Given the description of an element on the screen output the (x, y) to click on. 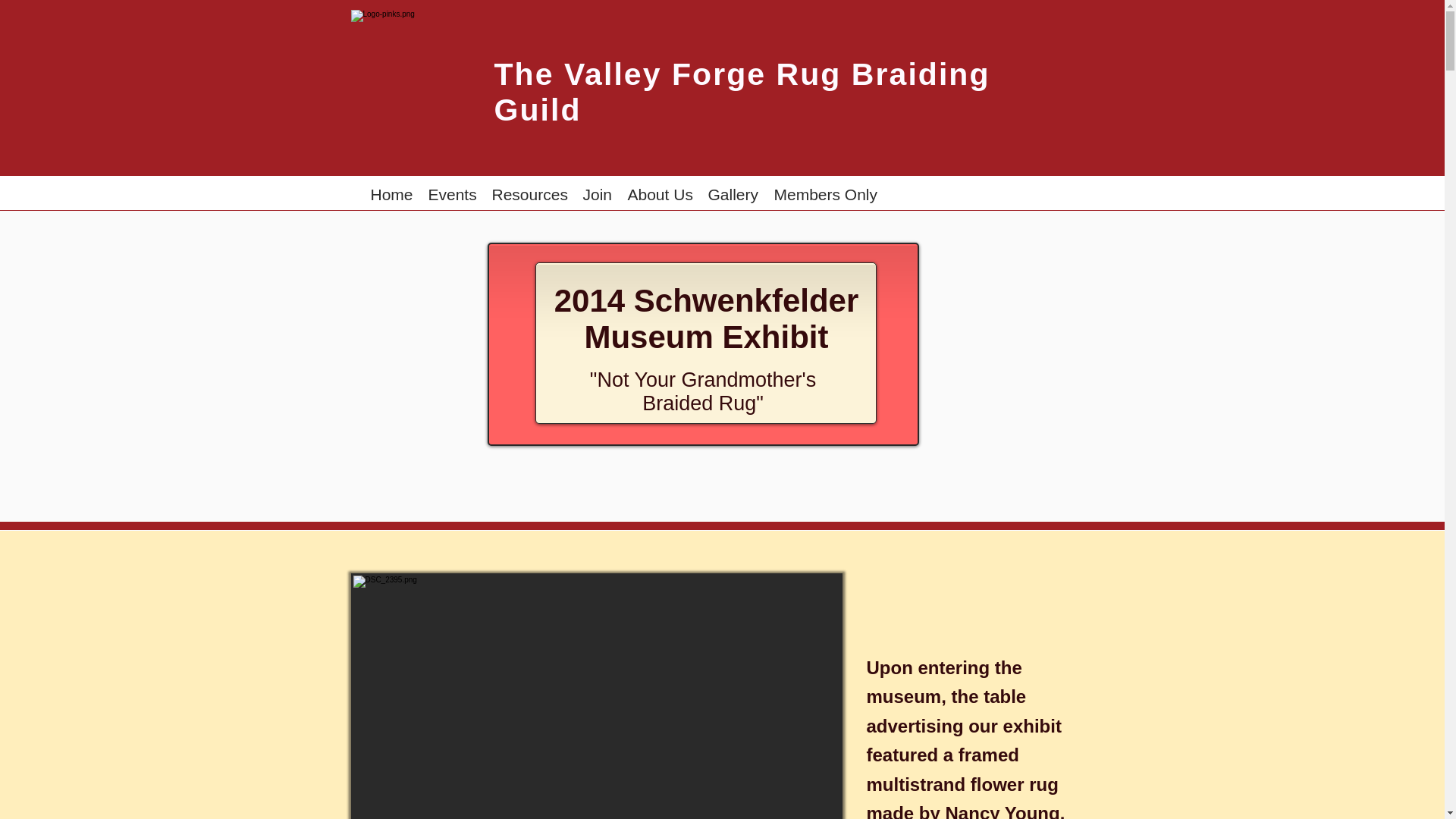
About Us (660, 192)
Members Only (825, 192)
Home (391, 192)
